Given the description of an element on the screen output the (x, y) to click on. 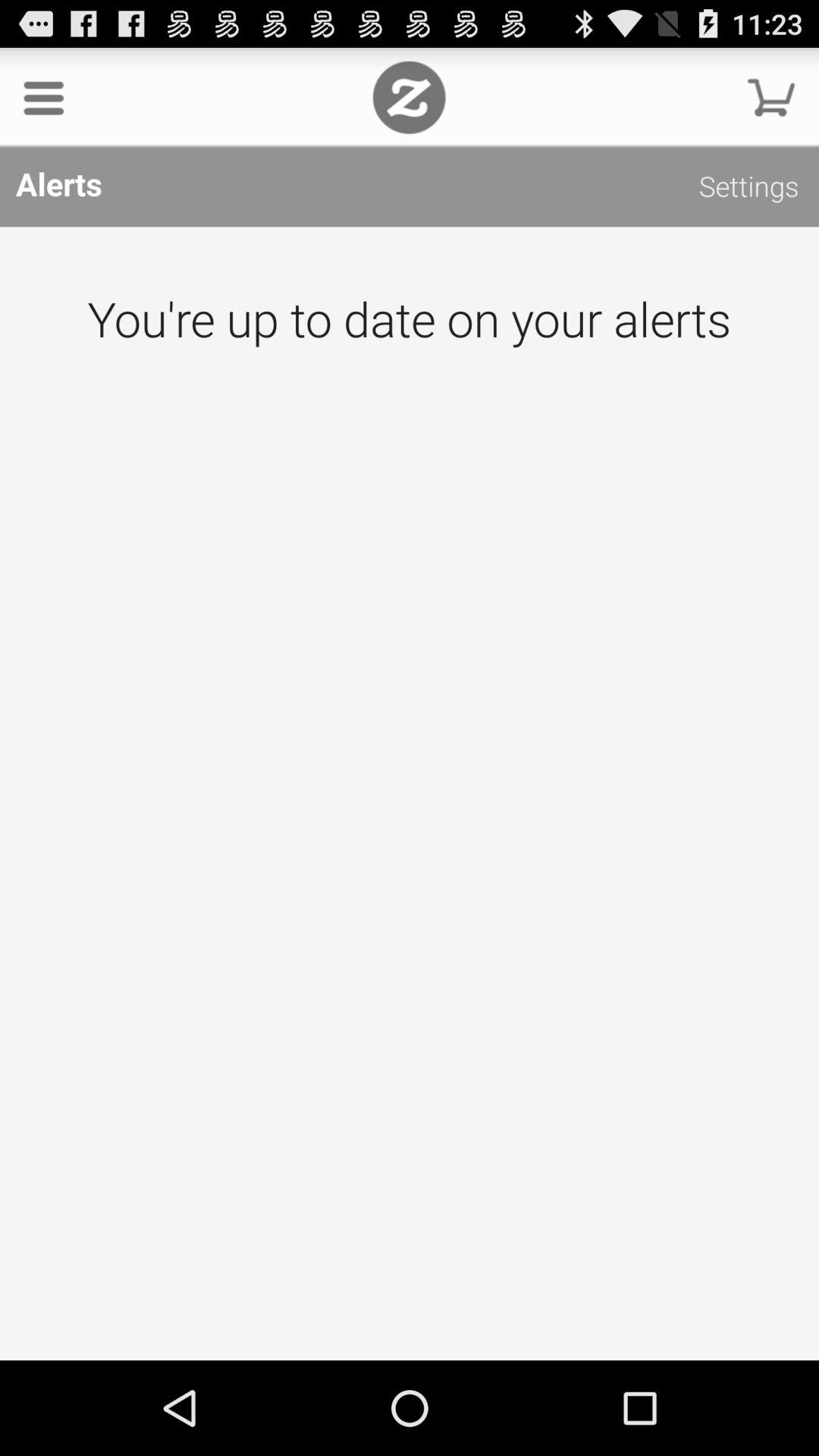
press the icon above alerts item (408, 97)
